Given the description of an element on the screen output the (x, y) to click on. 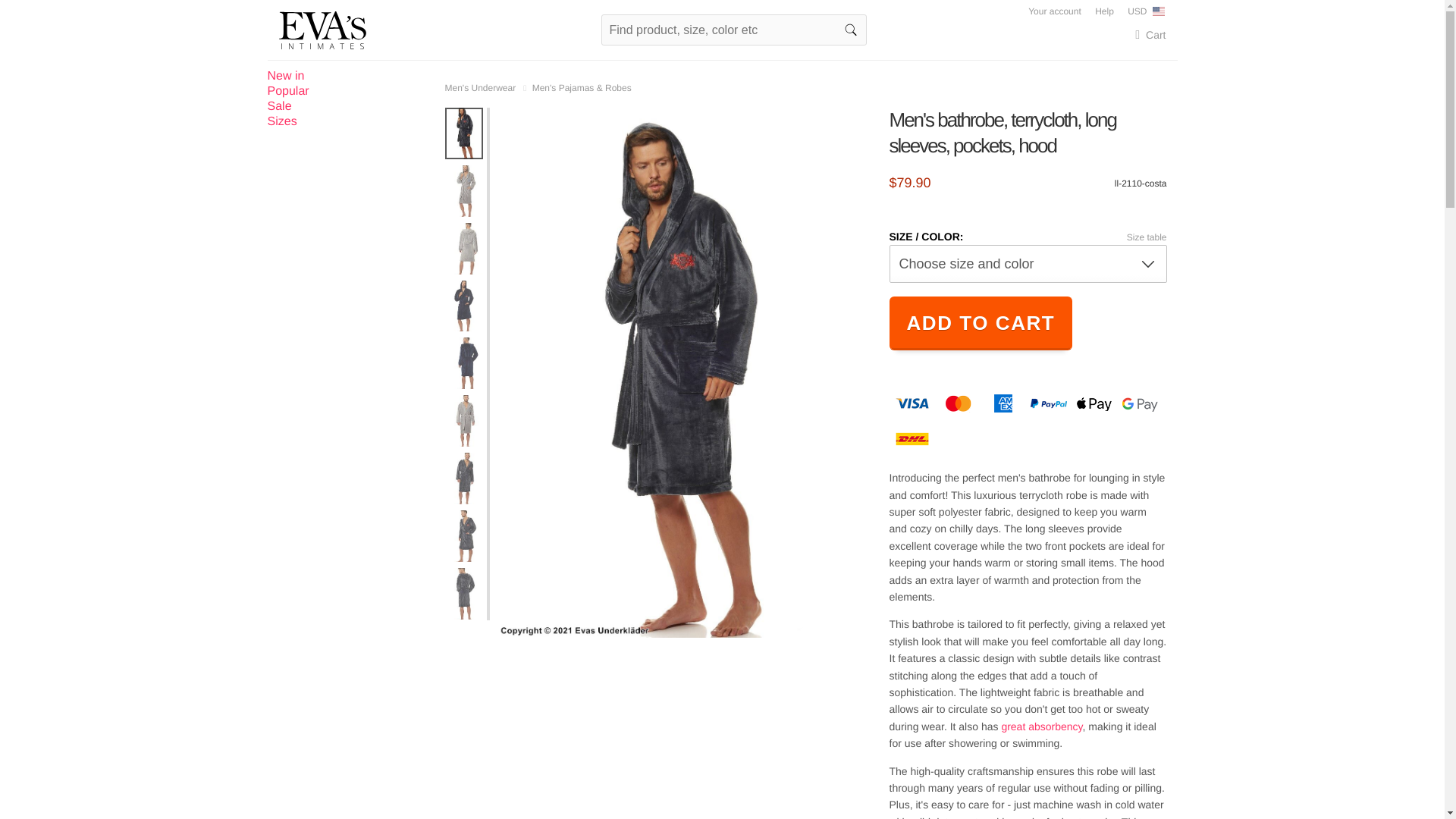
great absorbency (1041, 726)
Sizes (281, 121)
New in (285, 75)
USD (1146, 11)
Popular (287, 91)
Men's bathrobe, terrycloth, long sleeves, pockets, hood (1027, 132)
Men's Underwear (482, 87)
ADD TO CART (979, 323)
Your account (1054, 11)
Sale (278, 106)
Eva's Intimates (322, 30)
Cart (1141, 34)
Men's bathrobe, terrycloth, long sleeves, pockets, hood (1032, 132)
Size table (1146, 237)
Cart (1141, 34)
